Given the description of an element on the screen output the (x, y) to click on. 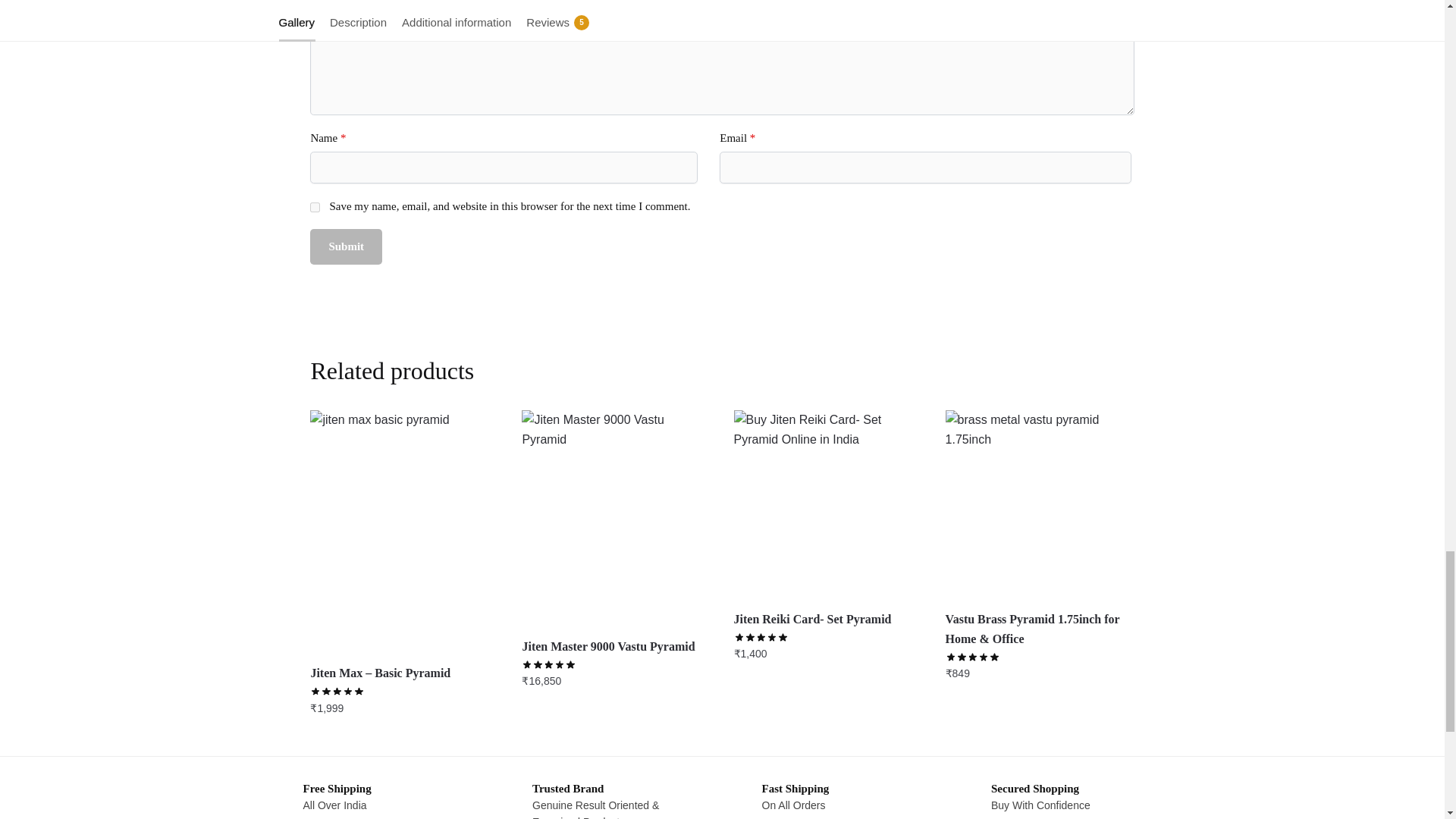
Jiten Reiki Card- Set Pyramid (828, 504)
yes (315, 207)
Submit (345, 246)
